Given the description of an element on the screen output the (x, y) to click on. 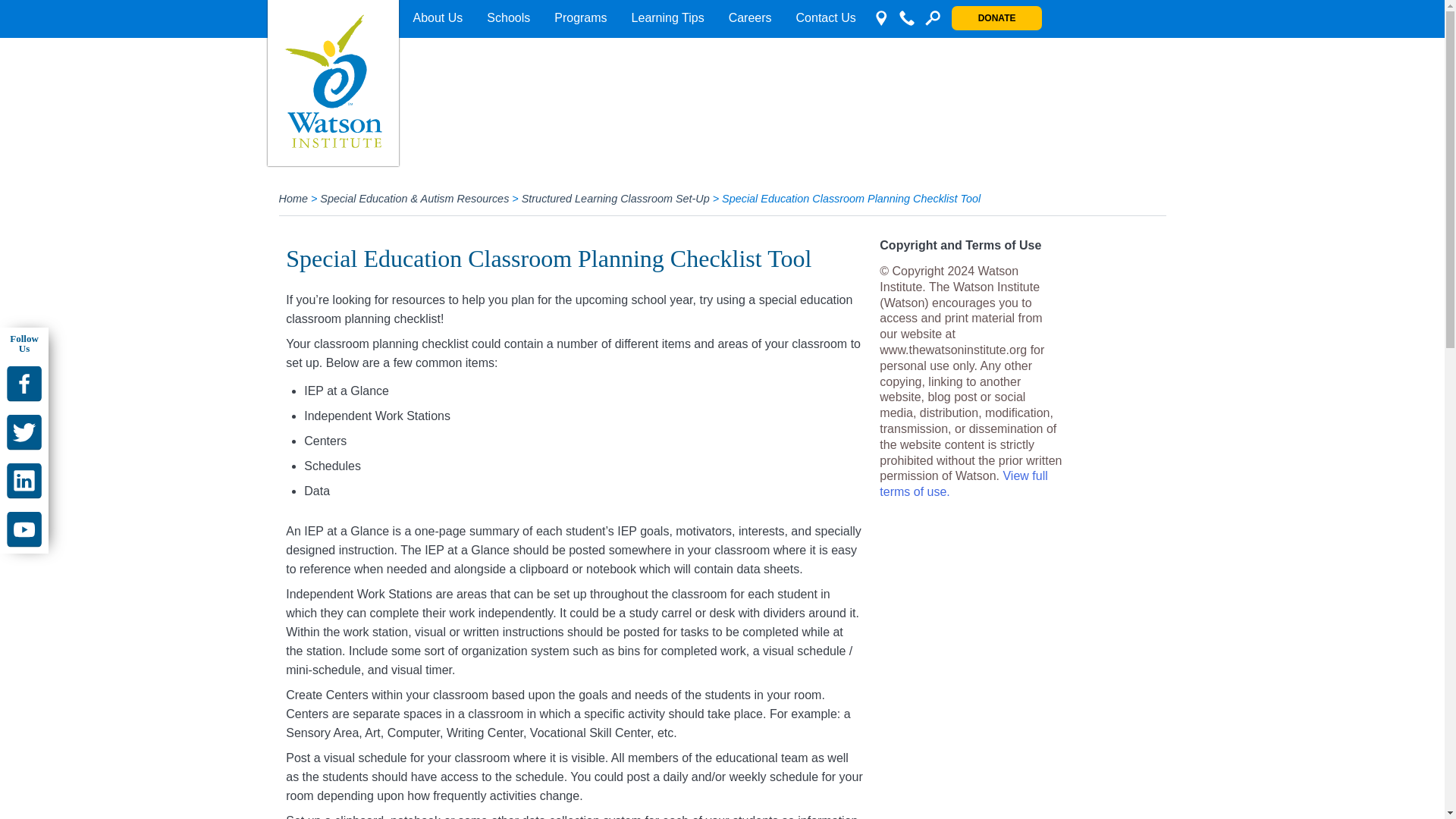
Schools (507, 18)
Learning Tips (668, 18)
About Us (437, 18)
Link to privacy policy (962, 483)
Programs (579, 18)
